Given the description of an element on the screen output the (x, y) to click on. 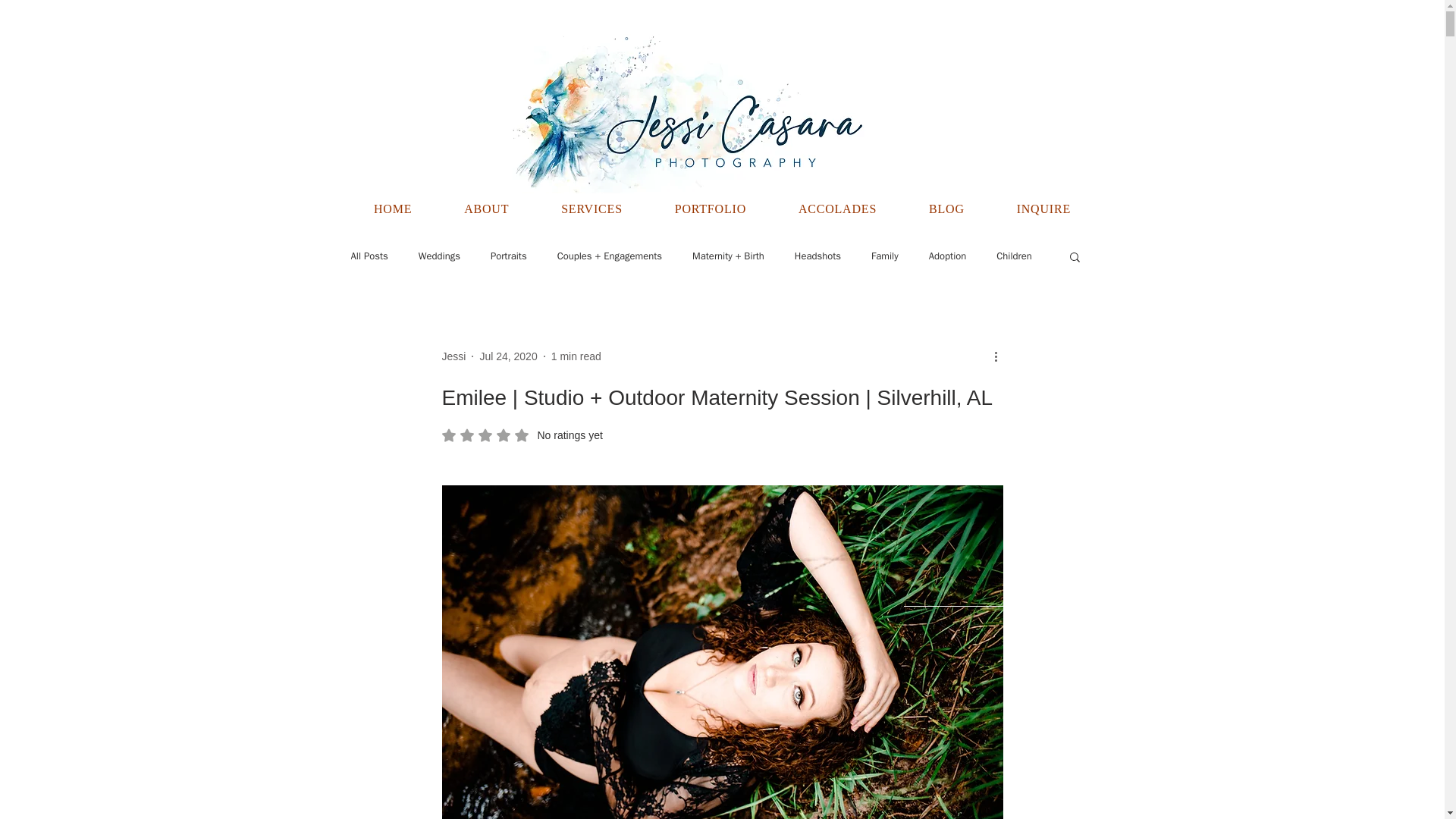
All Posts (368, 255)
Jul 24, 2020 (508, 356)
1 min read (576, 356)
Weddings (439, 255)
BLOG (721, 208)
ABOUT (521, 435)
Family (946, 208)
Jessi (486, 208)
Portraits (884, 255)
Headshots (453, 356)
SERVICES (508, 255)
Jessi (817, 255)
Children (592, 208)
